Given the description of an element on the screen output the (x, y) to click on. 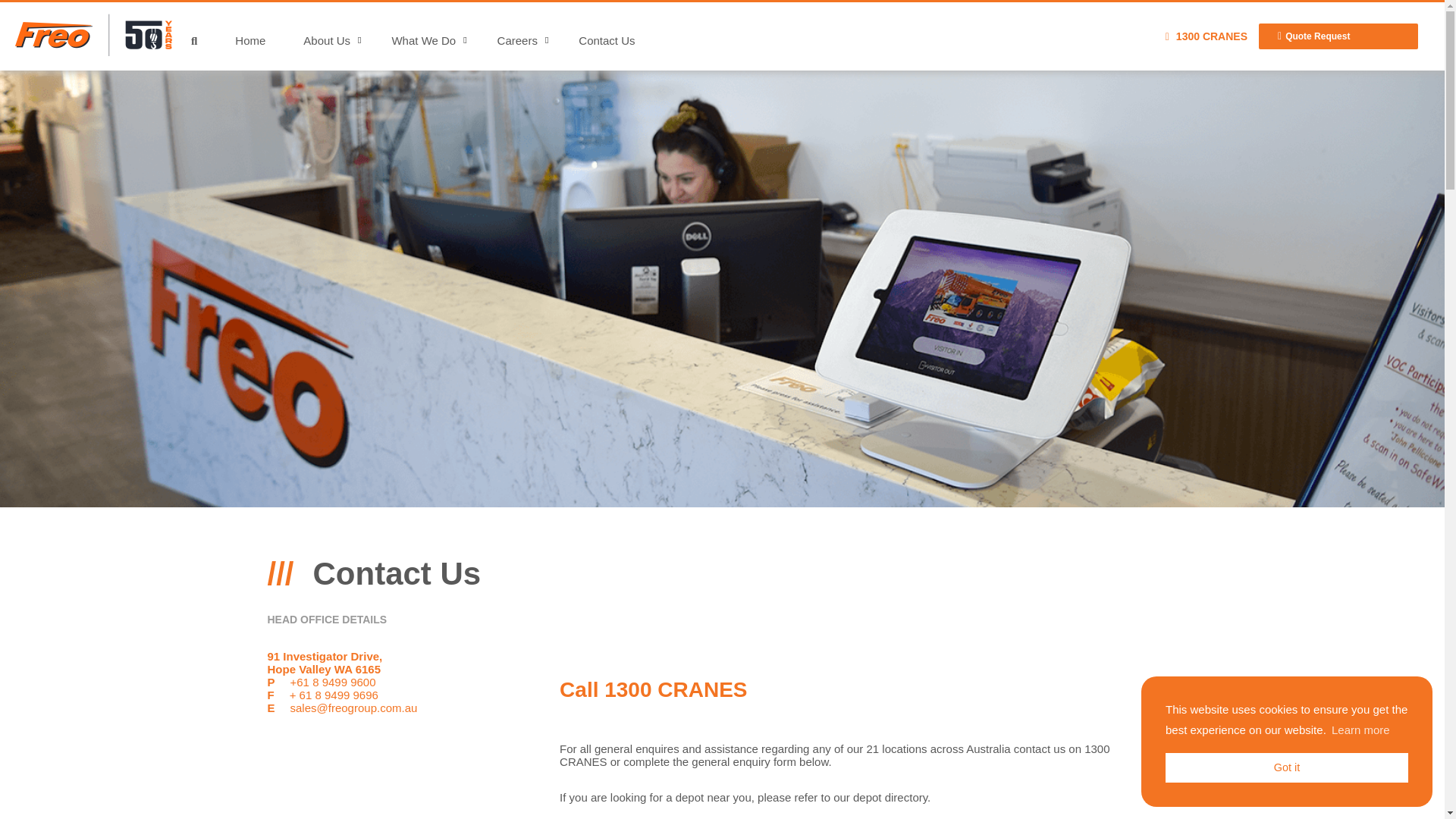
Contact Us (606, 39)
Quote Request (1338, 36)
What We Do (423, 39)
1300 CRANES (1206, 36)
Home (250, 39)
